Given the description of an element on the screen output the (x, y) to click on. 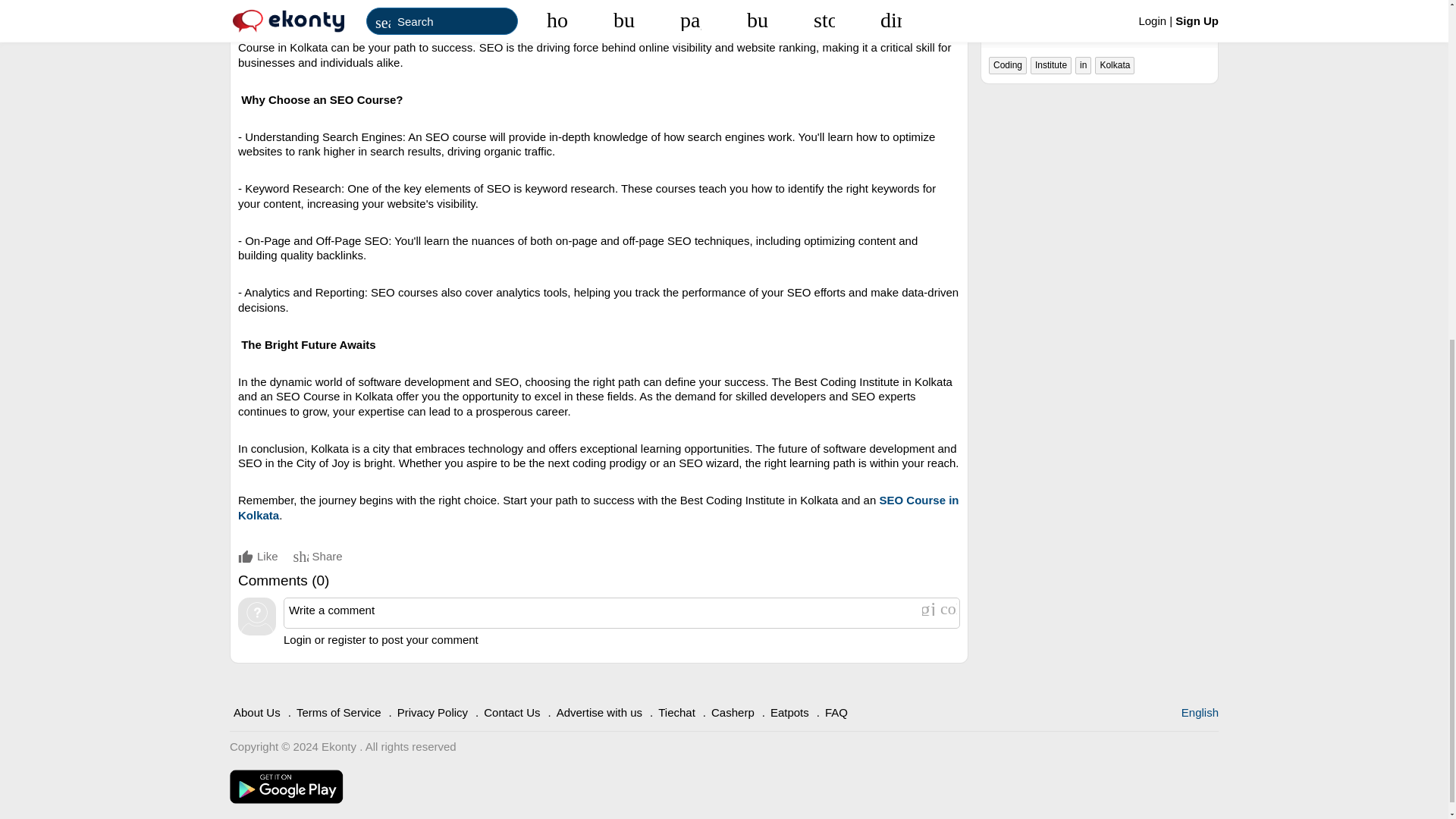
Kolkata (1114, 65)
Language (1199, 712)
Coding (1007, 65)
Sticker (947, 607)
Institute (1050, 65)
